Given the description of an element on the screen output the (x, y) to click on. 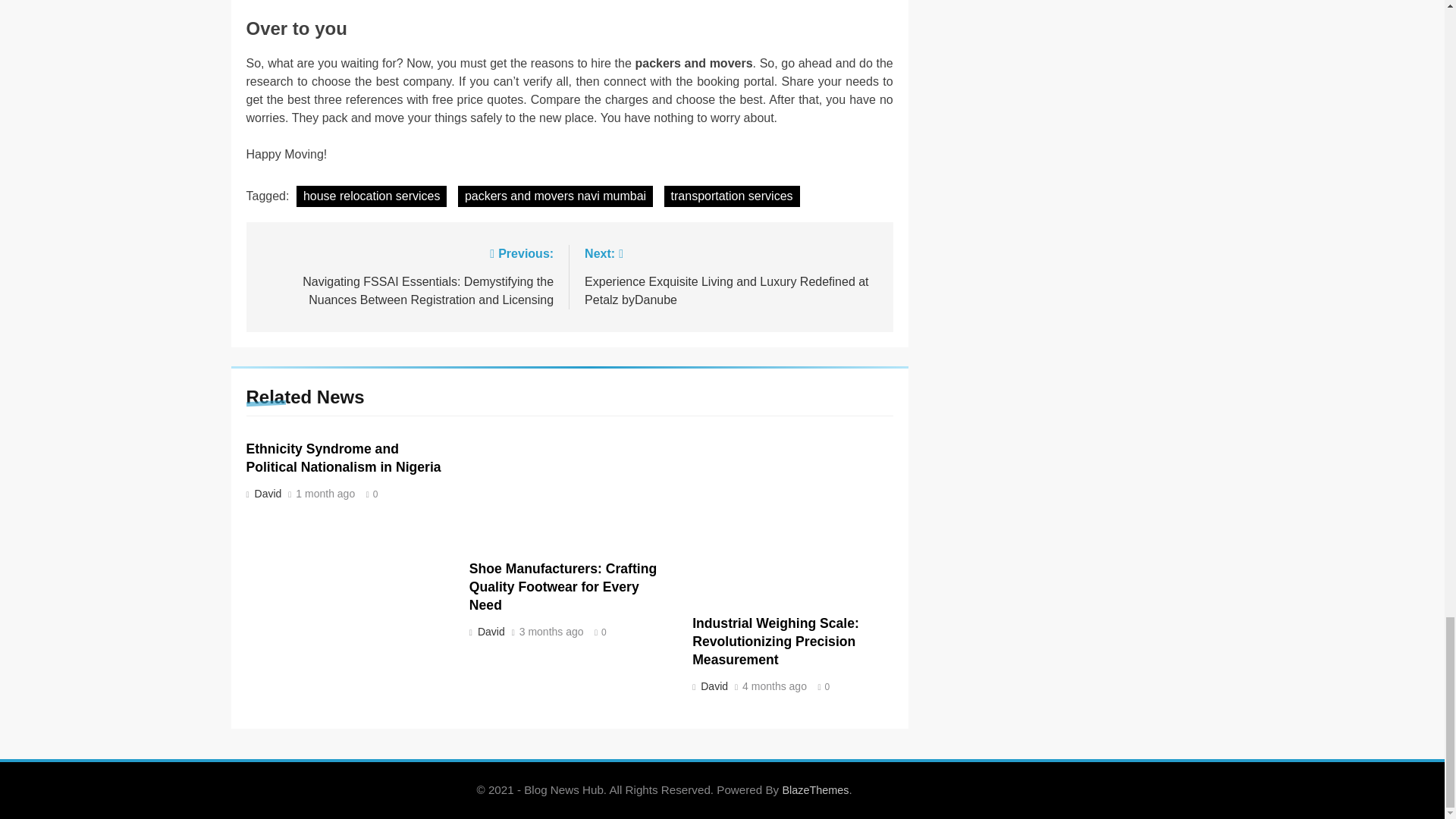
4 months ago (774, 686)
3 months ago (551, 632)
David (489, 631)
David (266, 493)
transportation services (731, 196)
1 month ago (325, 493)
Shoe Manufacturers: Crafting Quality Footwear for Every Need (562, 586)
packers and movers navi mumbai (555, 196)
David (713, 686)
Ethnicity Syndrome and Political Nationalism in Nigeria (343, 458)
house relocation services (371, 196)
